Given the description of an element on the screen output the (x, y) to click on. 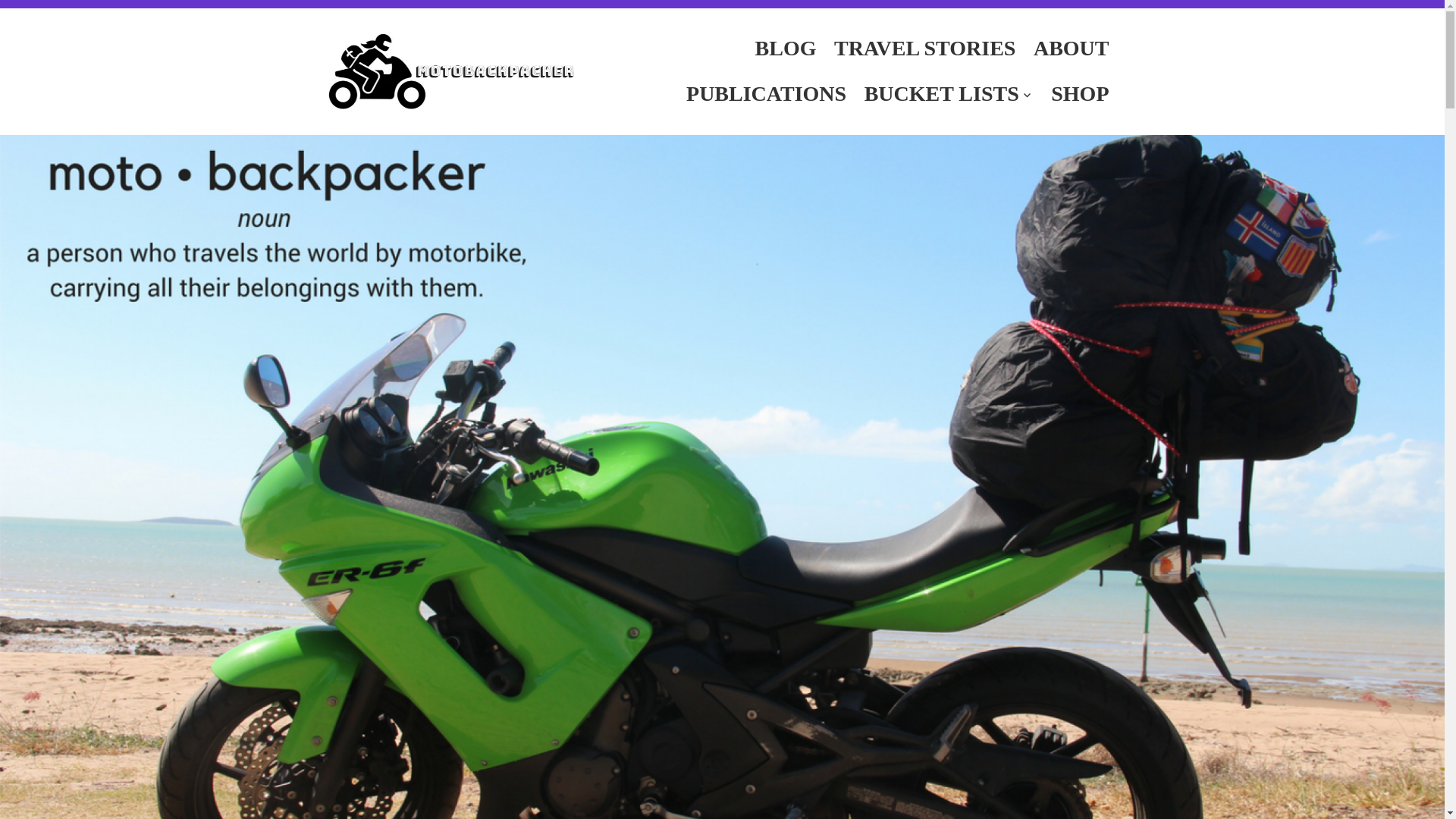
BUCKET LISTS (949, 94)
ABOUT (1071, 48)
TRAVEL STORIES (925, 48)
PUBLICATIONS (765, 94)
BACKPACKS AND MOTORBIKES (835, 48)
SHOP (1079, 94)
BLOG (786, 48)
